Given the description of an element on the screen output the (x, y) to click on. 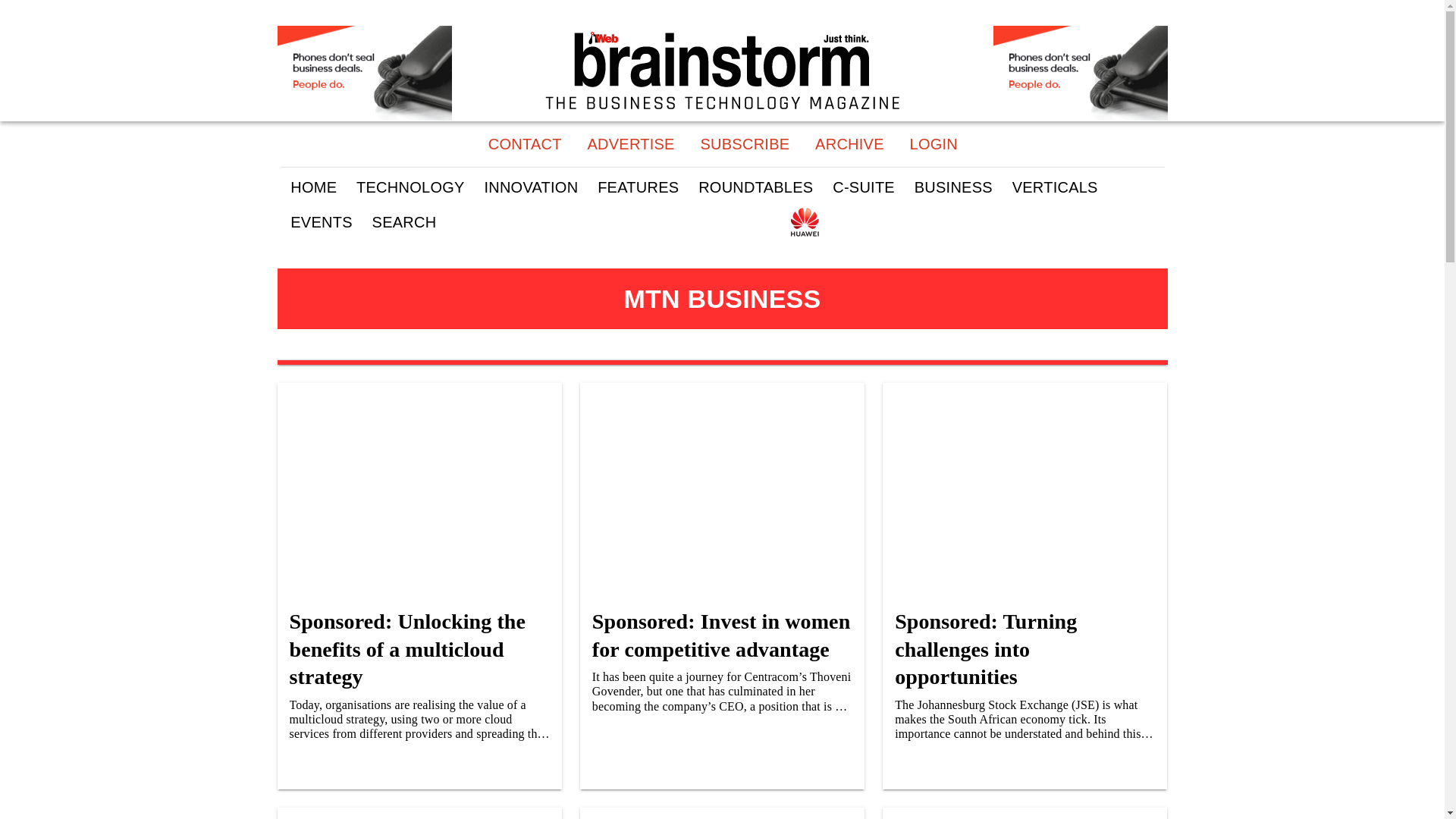
HOME (313, 186)
Click Here (1079, 72)
SEARCH (403, 222)
C-SUITE (863, 186)
LOGIN (932, 144)
Click Here (364, 72)
ADVERTISE (630, 144)
CONTACT (523, 144)
TECHNOLOGY (409, 186)
VERTICALS (1053, 186)
SUBSCRIBE (744, 144)
EVENTS (321, 222)
INNOVATION (531, 186)
ROUNDTABLES (754, 186)
